Given the description of an element on the screen output the (x, y) to click on. 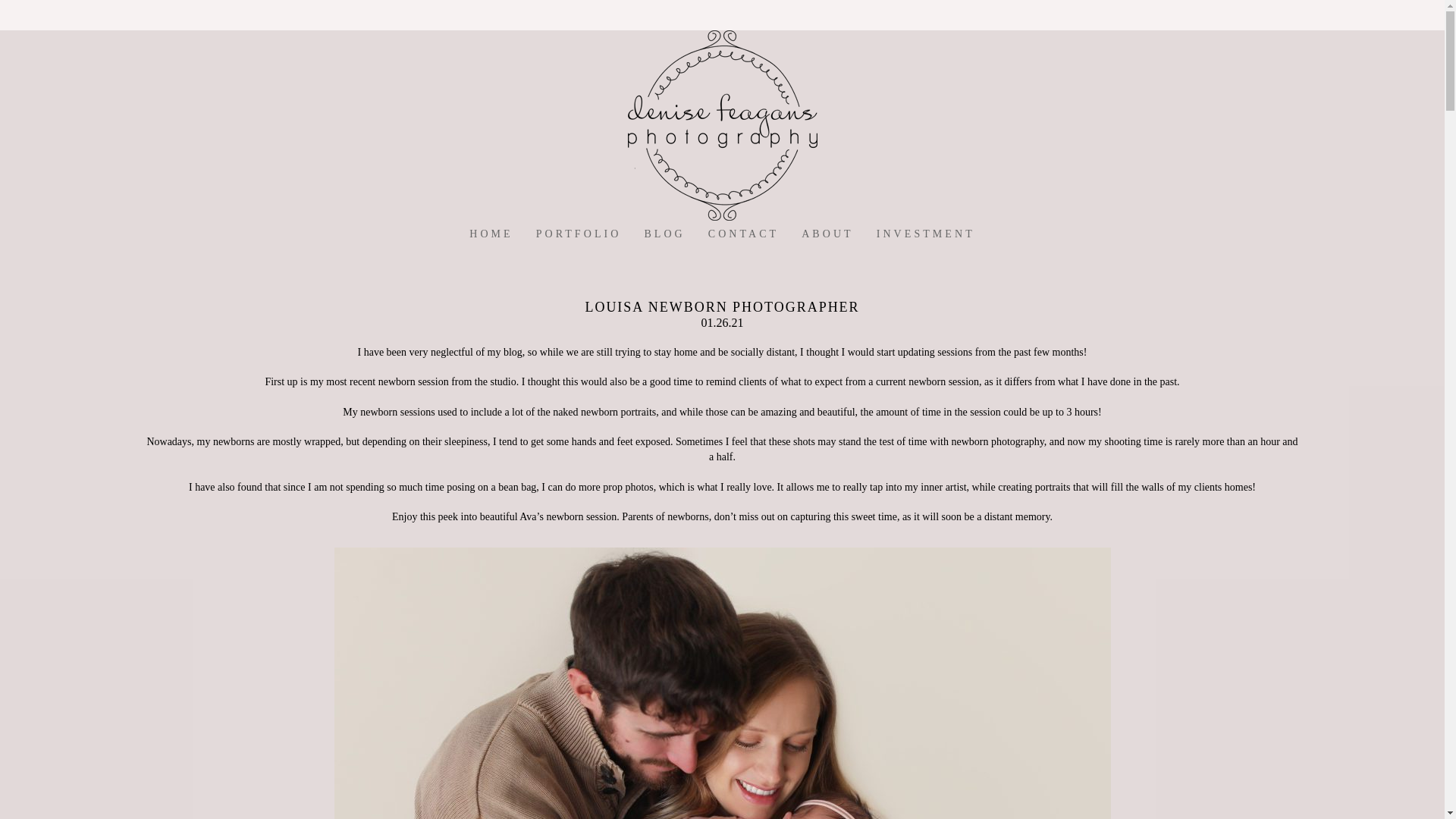
INVESTMENT (925, 233)
ABOUT (827, 233)
CONTACT (742, 233)
HOME (490, 233)
BLOG (663, 233)
